Given the description of an element on the screen output the (x, y) to click on. 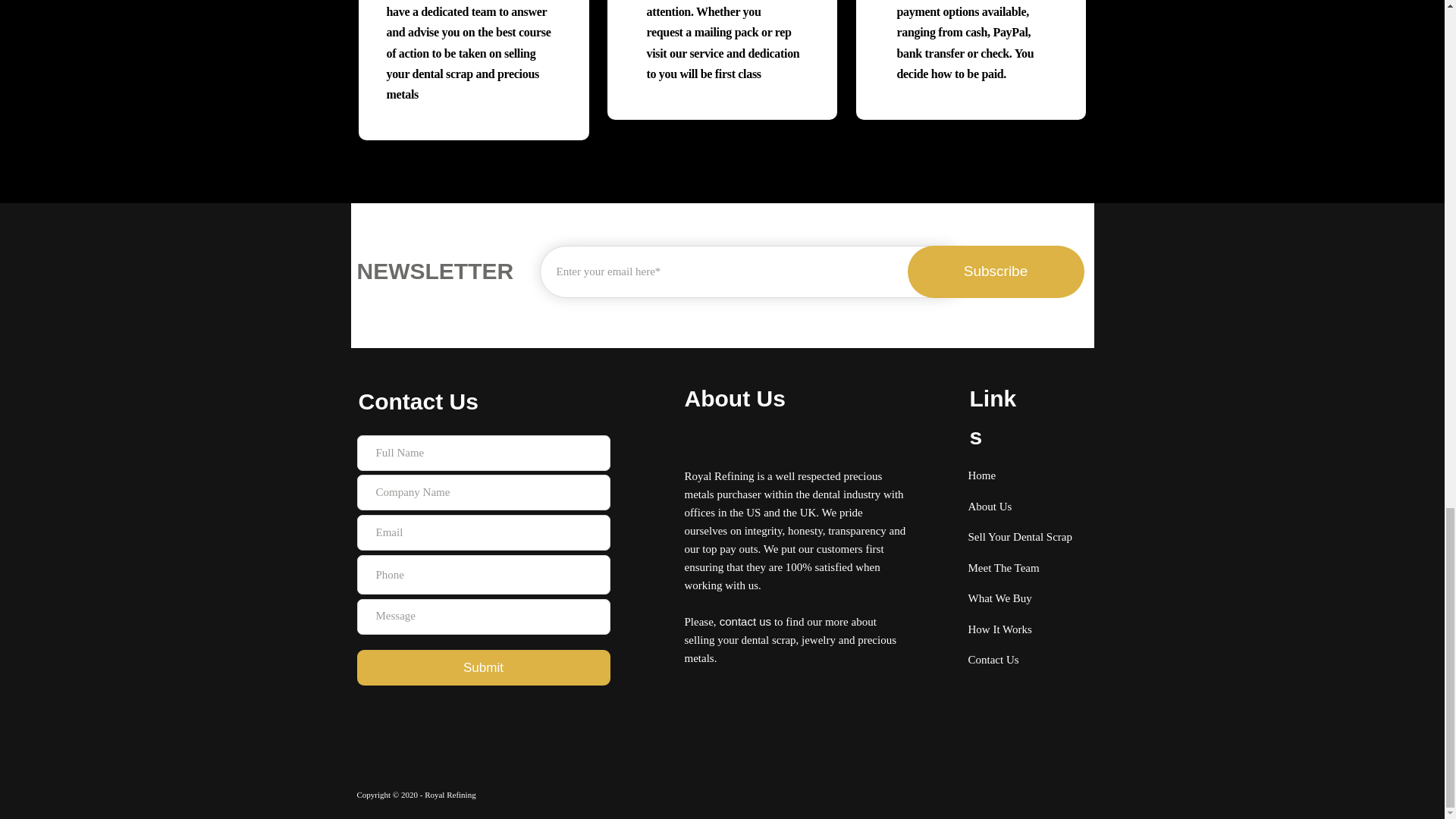
Subscribe (995, 271)
Home (981, 474)
Meet The Team (1003, 567)
About Us (989, 505)
Contact Us (992, 658)
contact us (745, 621)
Submit (483, 667)
Sell Your Dental Scrap (1019, 535)
What We Buy (999, 597)
How It Works (999, 628)
